Given the description of an element on the screen output the (x, y) to click on. 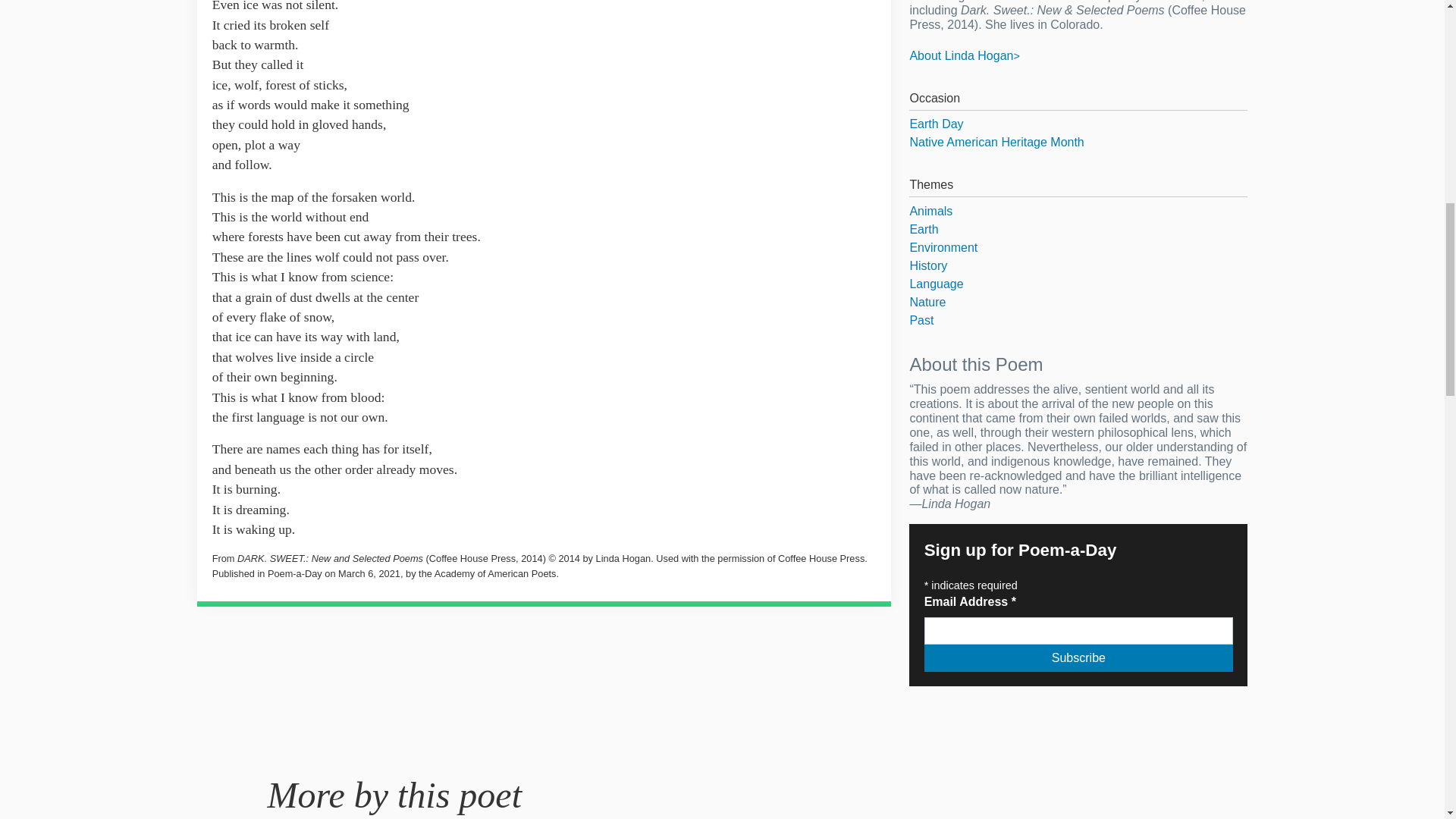
About Linda Hogan (963, 55)
Earth Day (1077, 124)
Animals (1077, 211)
Native American Heritage Month (1077, 142)
Subscribe (1078, 657)
